Given the description of an element on the screen output the (x, y) to click on. 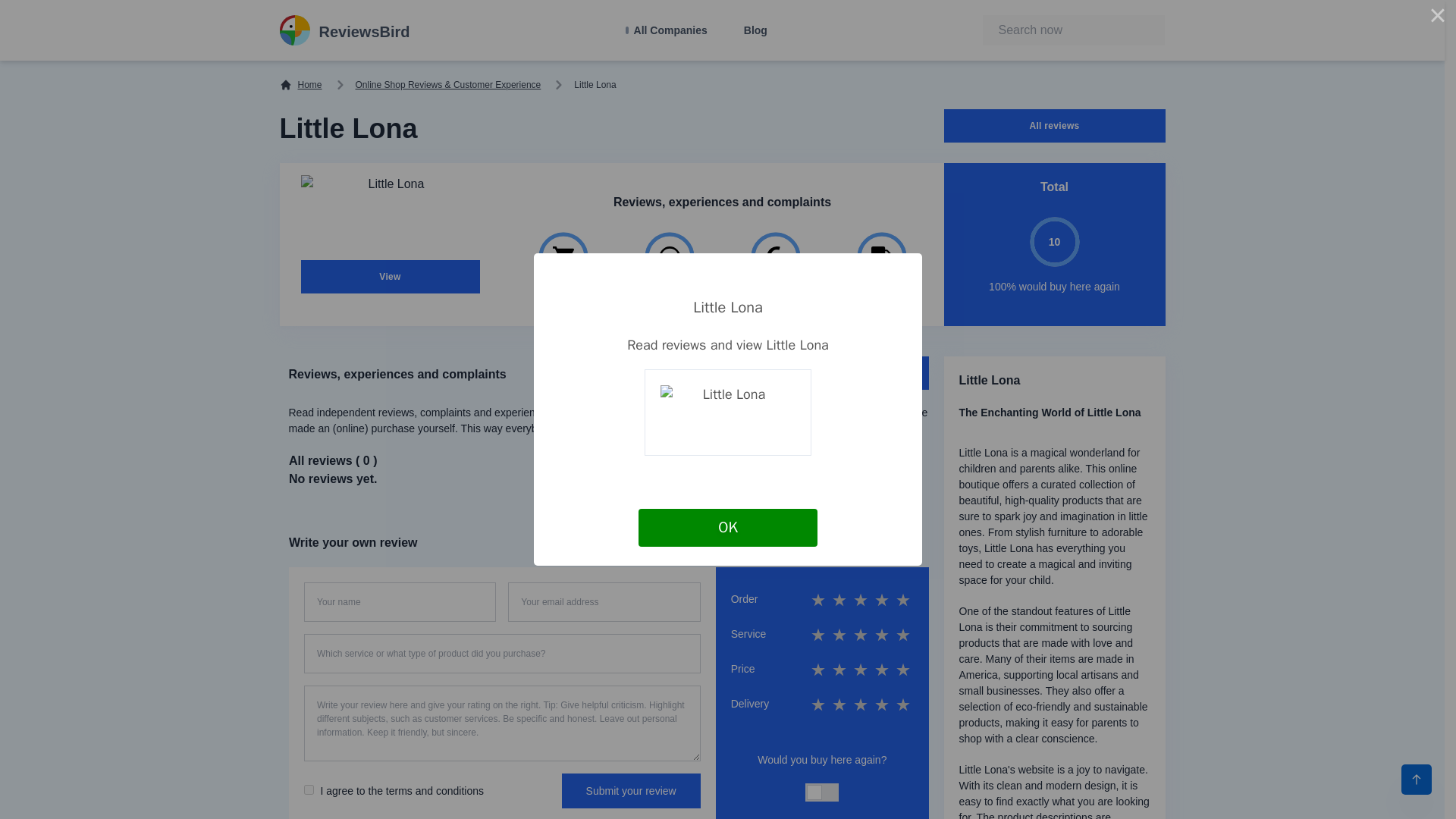
Blog (755, 30)
Blog (755, 30)
1 (307, 789)
ReviewsBird (344, 30)
All reviews (1053, 125)
Home (300, 84)
All Companies (666, 30)
ReviewsBird (344, 30)
All Companies (666, 30)
